Given the description of an element on the screen output the (x, y) to click on. 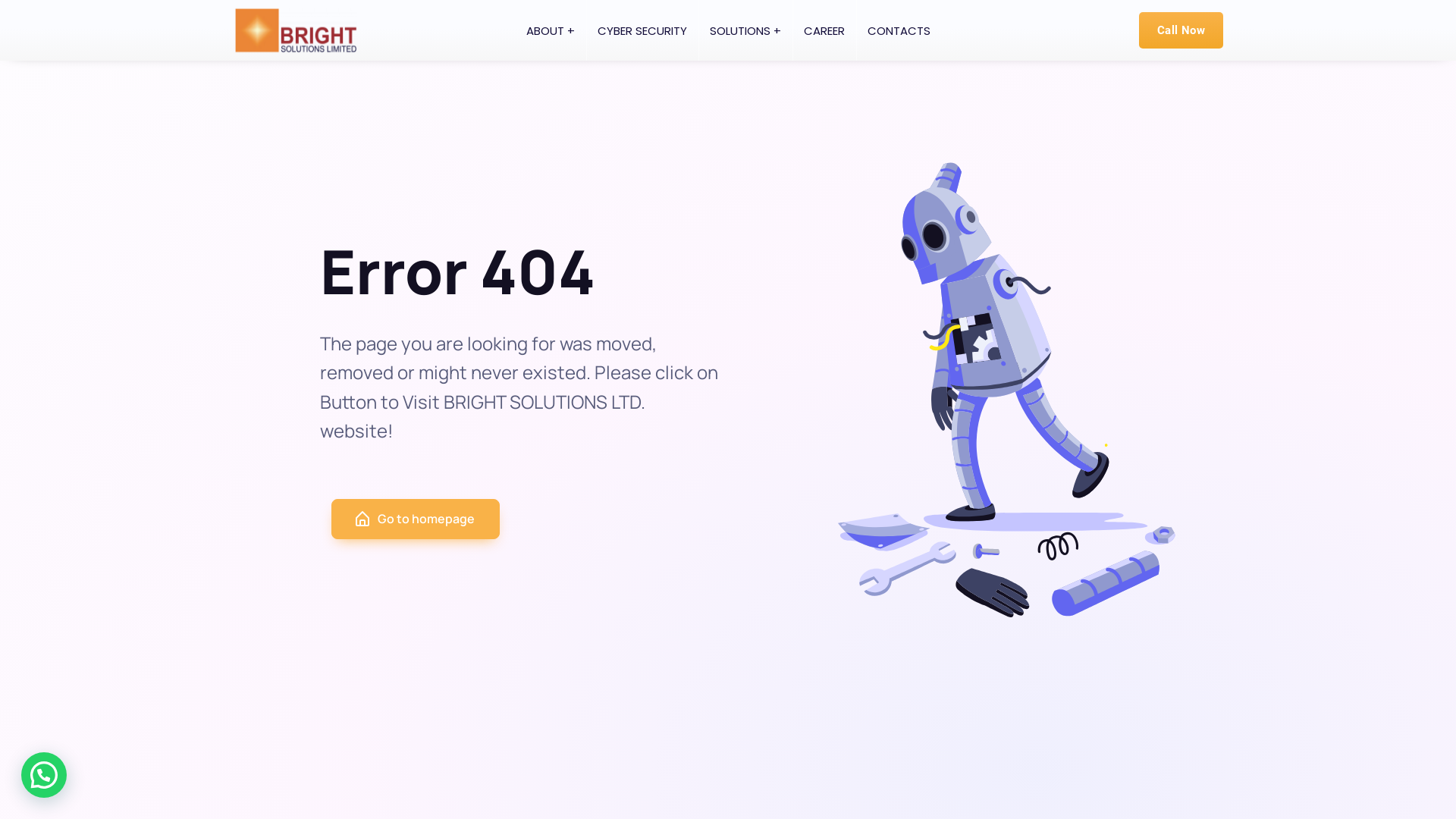
CYBER SECURITY Element type: text (641, 30)
Bright-Logo-2 Element type: hover (295, 30)
SOLUTIONS + Element type: text (744, 30)
ABOUT + Element type: text (549, 30)
CONTACTS Element type: text (898, 30)
Call Now Element type: text (1181, 30)
CAREER Element type: text (823, 30)
Go to homepage Element type: text (415, 518)
